Given the description of an element on the screen output the (x, y) to click on. 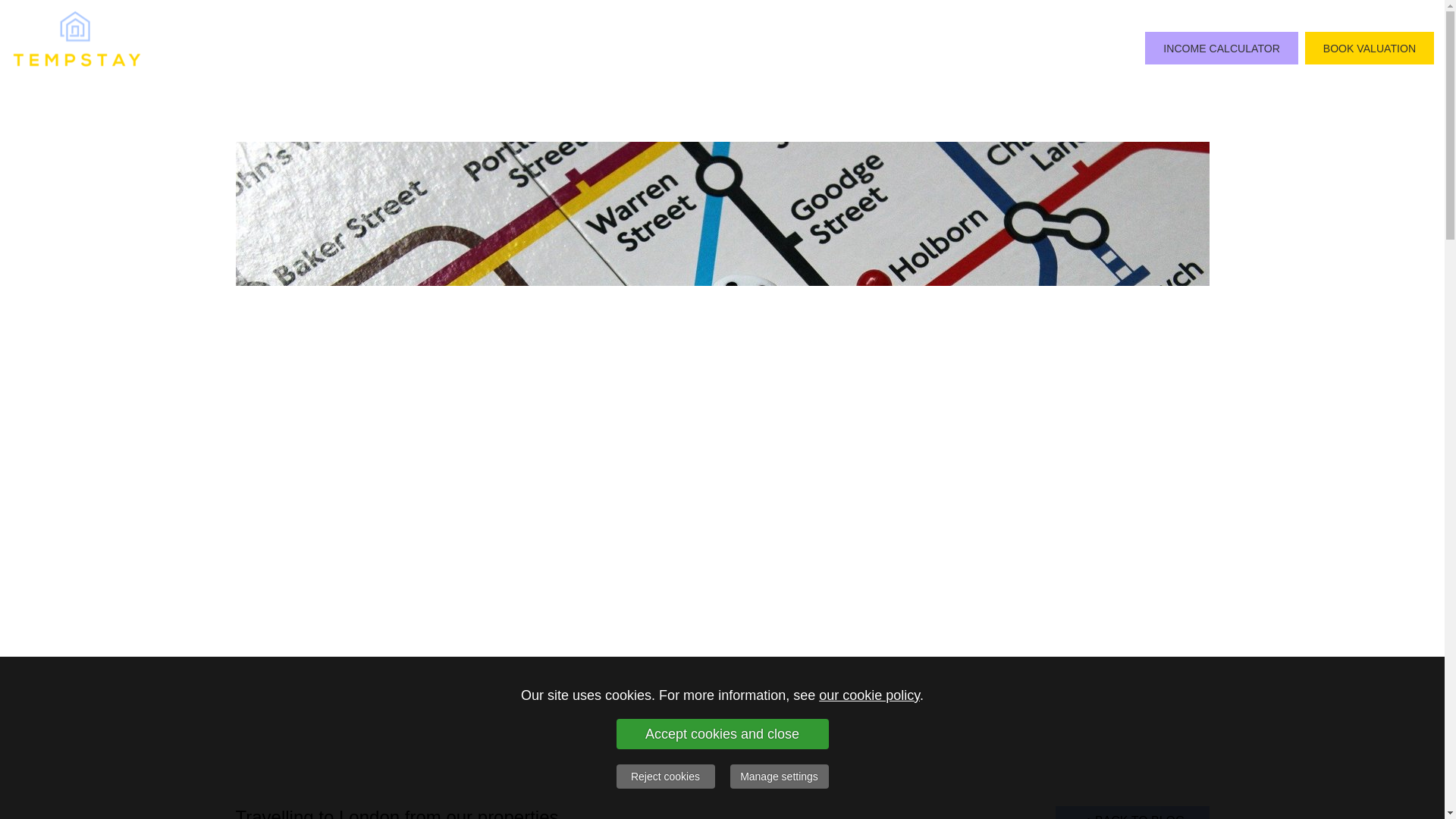
Bookings (1100, 47)
Landlords (892, 47)
BACK TO BLOG (1132, 812)
Contact (1024, 47)
BOOK VALUATION (1369, 47)
INCOME CALCULATOR (1221, 47)
Guests (815, 47)
About (751, 47)
